Given the description of an element on the screen output the (x, y) to click on. 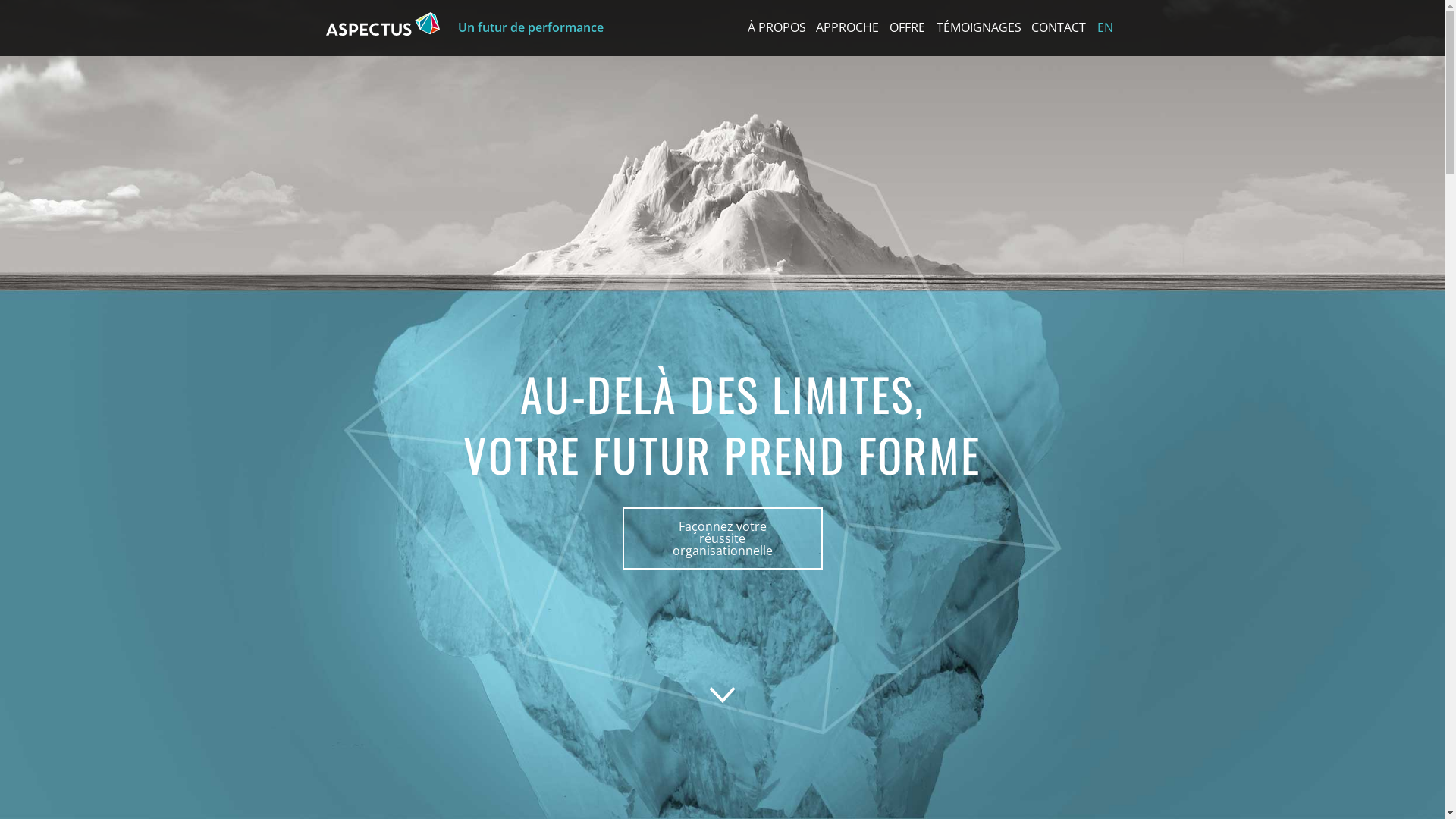
EN Element type: text (1105, 26)
OFFRE Element type: text (905, 26)
APPROCHE Element type: text (845, 26)
Un futur de performance Element type: text (522, 26)
CONTACT Element type: text (1057, 26)
